Given the description of an element on the screen output the (x, y) to click on. 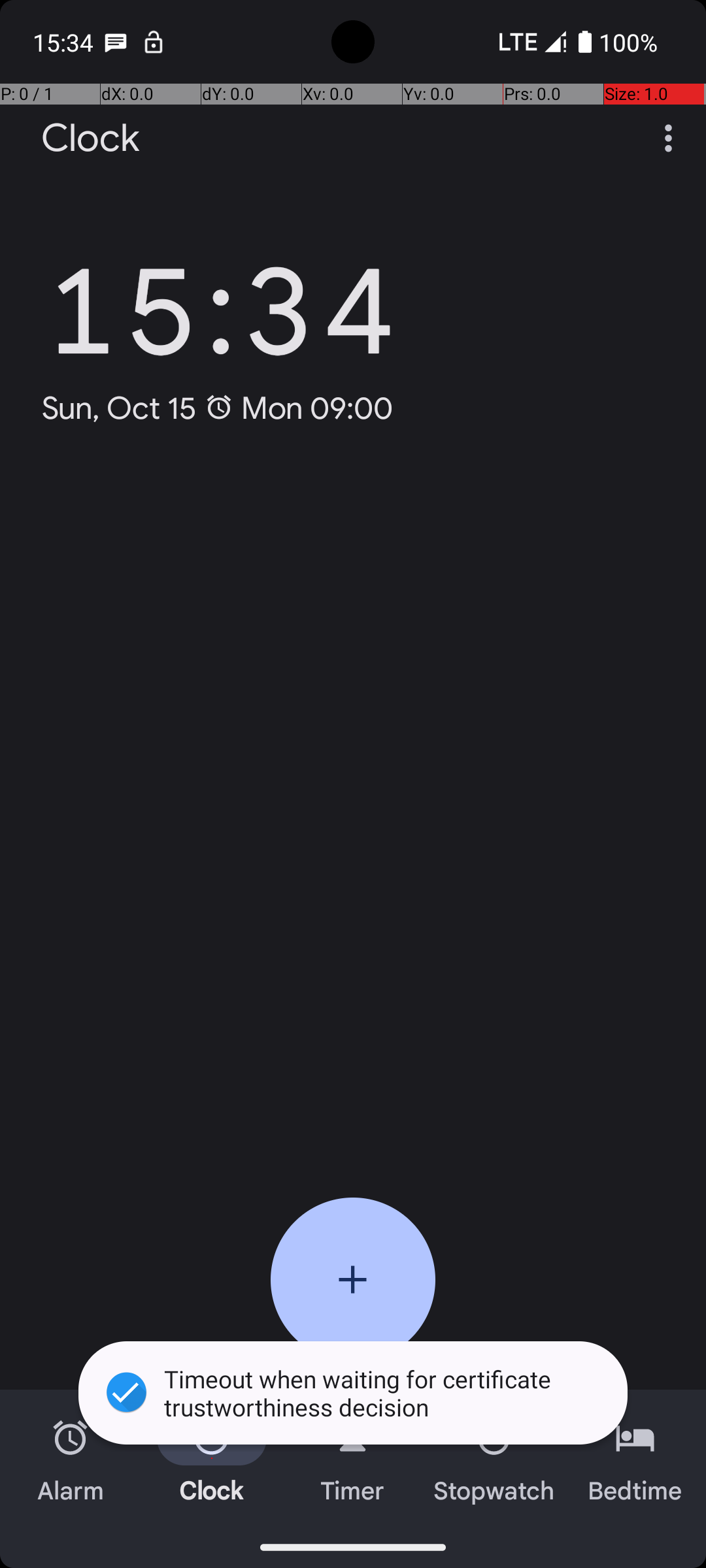
Sun, Oct 15 A Mon 09:00 Element type: android.widget.TextView (216, 407)
Tasks notification: Connection security Element type: android.widget.ImageView (153, 41)
